Given the description of an element on the screen output the (x, y) to click on. 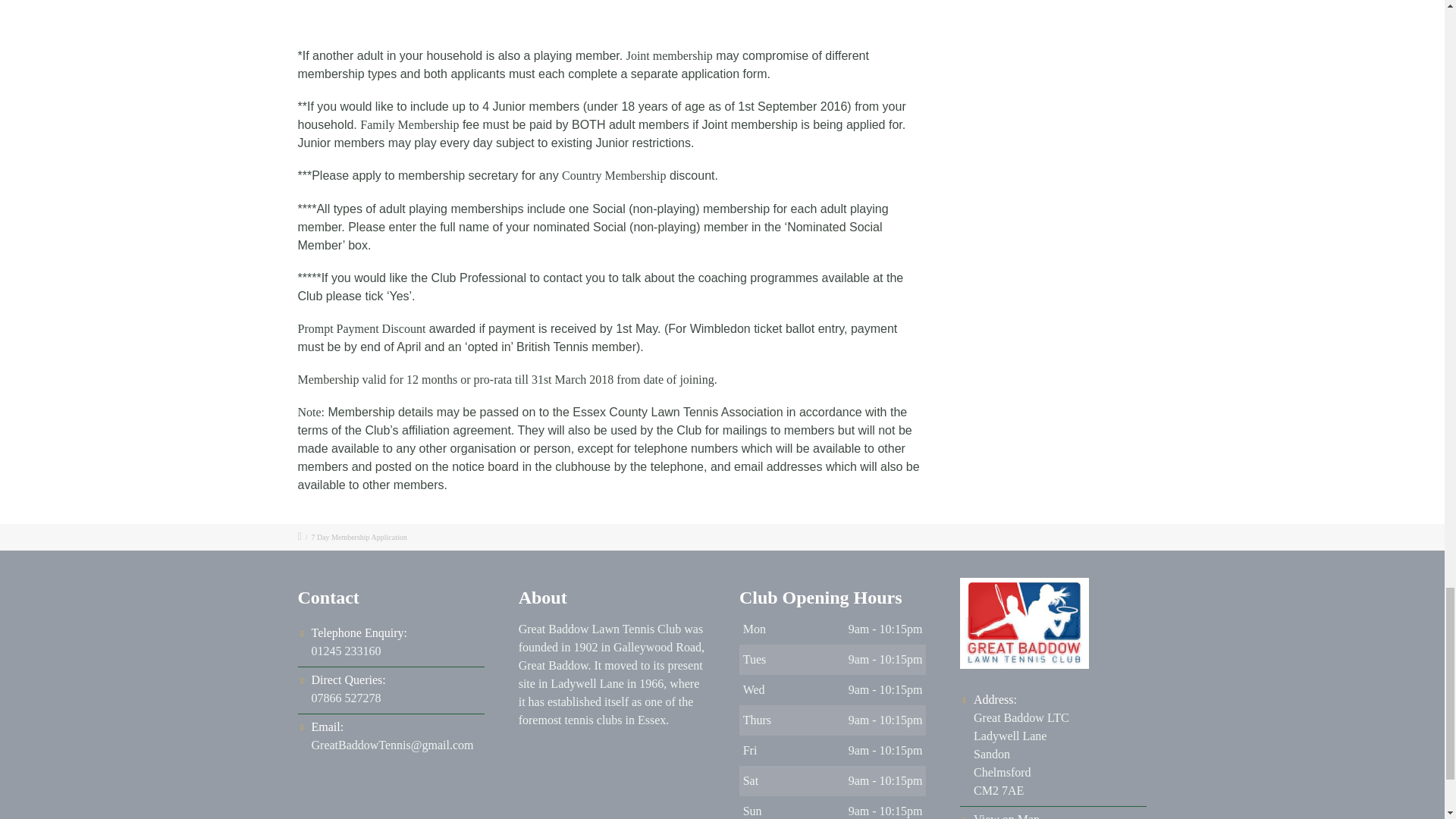
View on Map (358, 641)
